Given the description of an element on the screen output the (x, y) to click on. 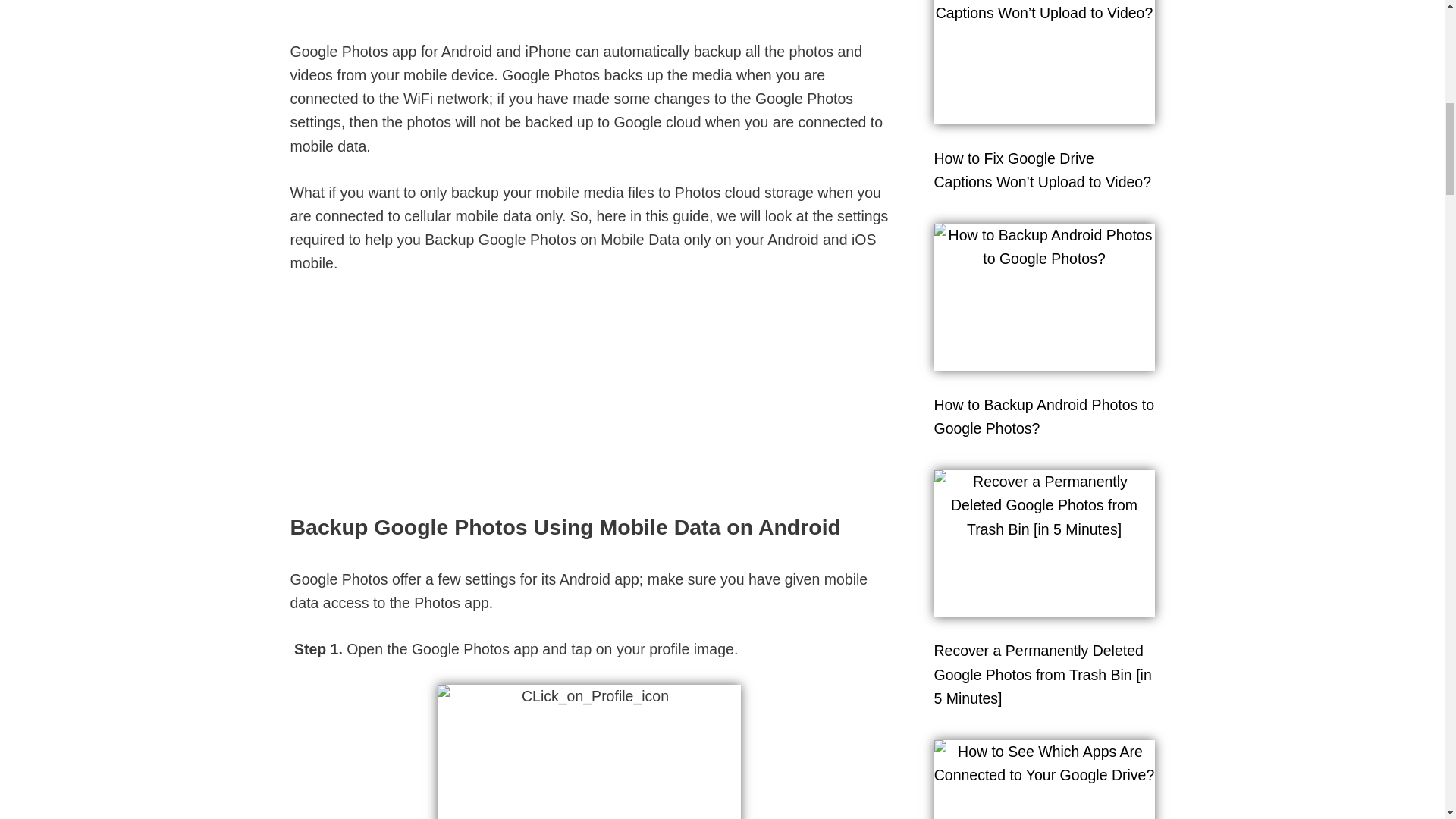
How to Backup Android Photos to Google Photos? (1044, 416)
